Given the description of an element on the screen output the (x, y) to click on. 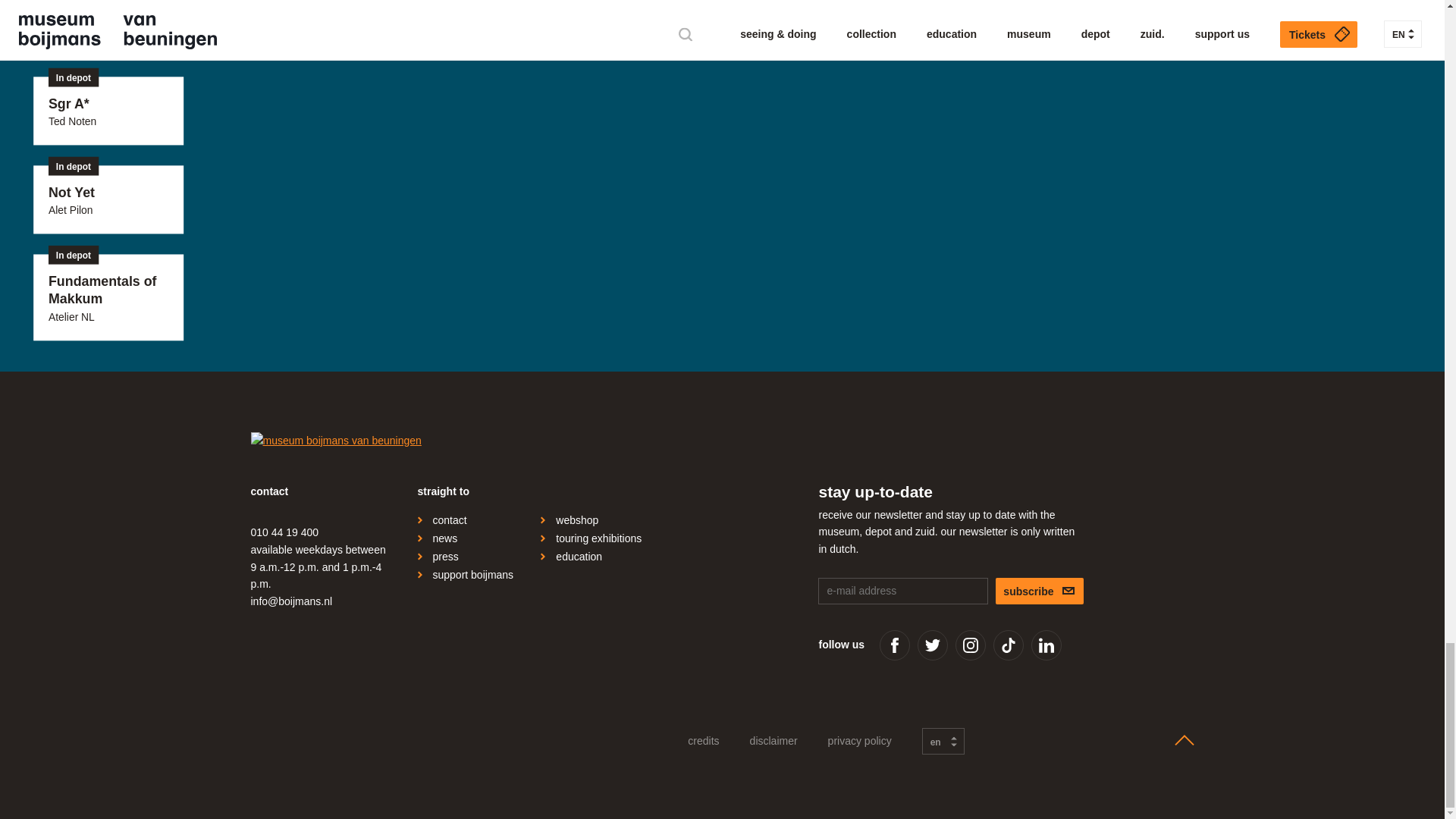
Tiktok (1007, 644)
Facebook (894, 644)
Twitter (932, 644)
Instagram (970, 644)
Linkedin (1045, 644)
